Given the description of an element on the screen output the (x, y) to click on. 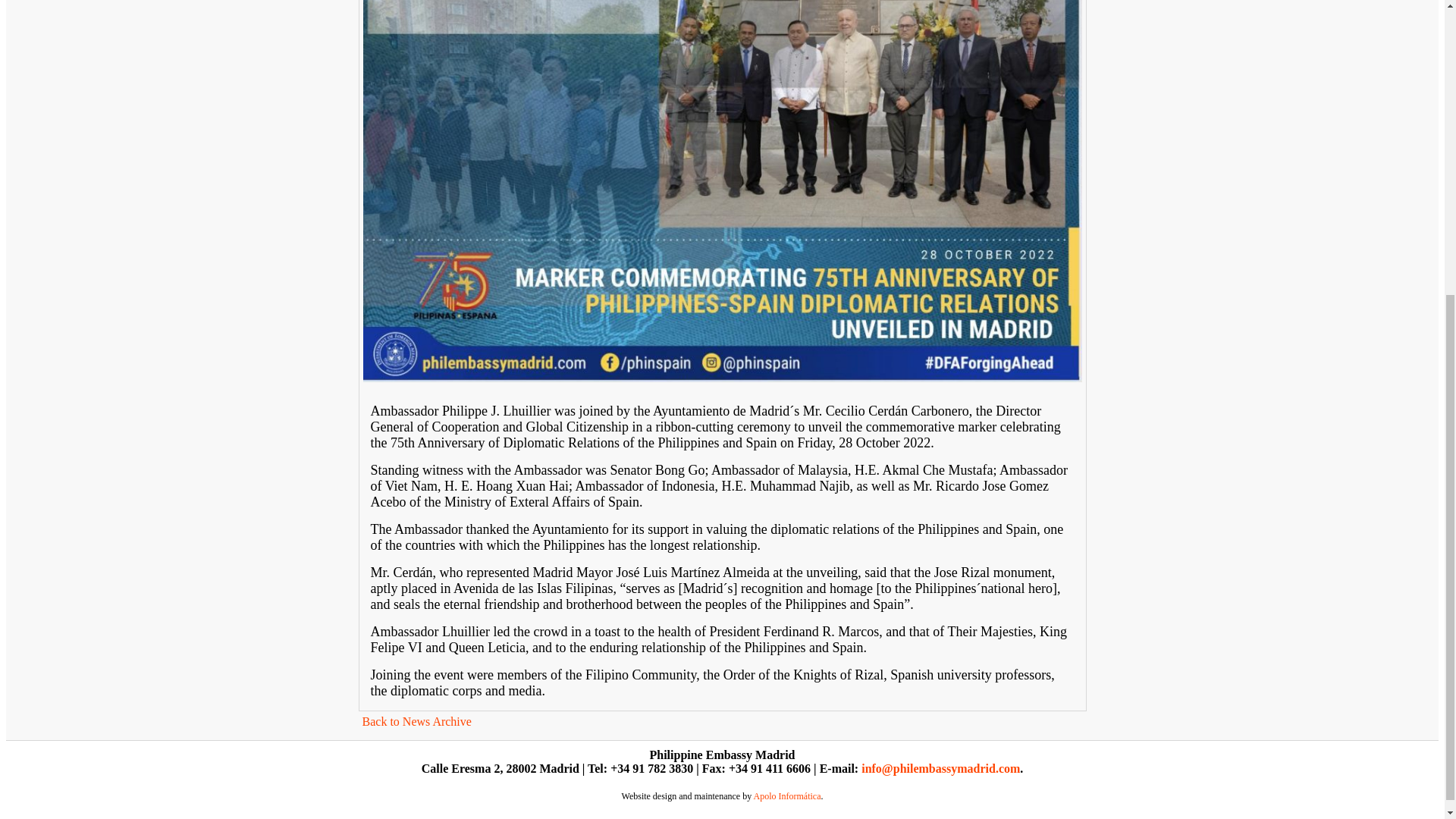
Back to News Archive (416, 721)
More in Latest News (416, 721)
